Given the description of an element on the screen output the (x, y) to click on. 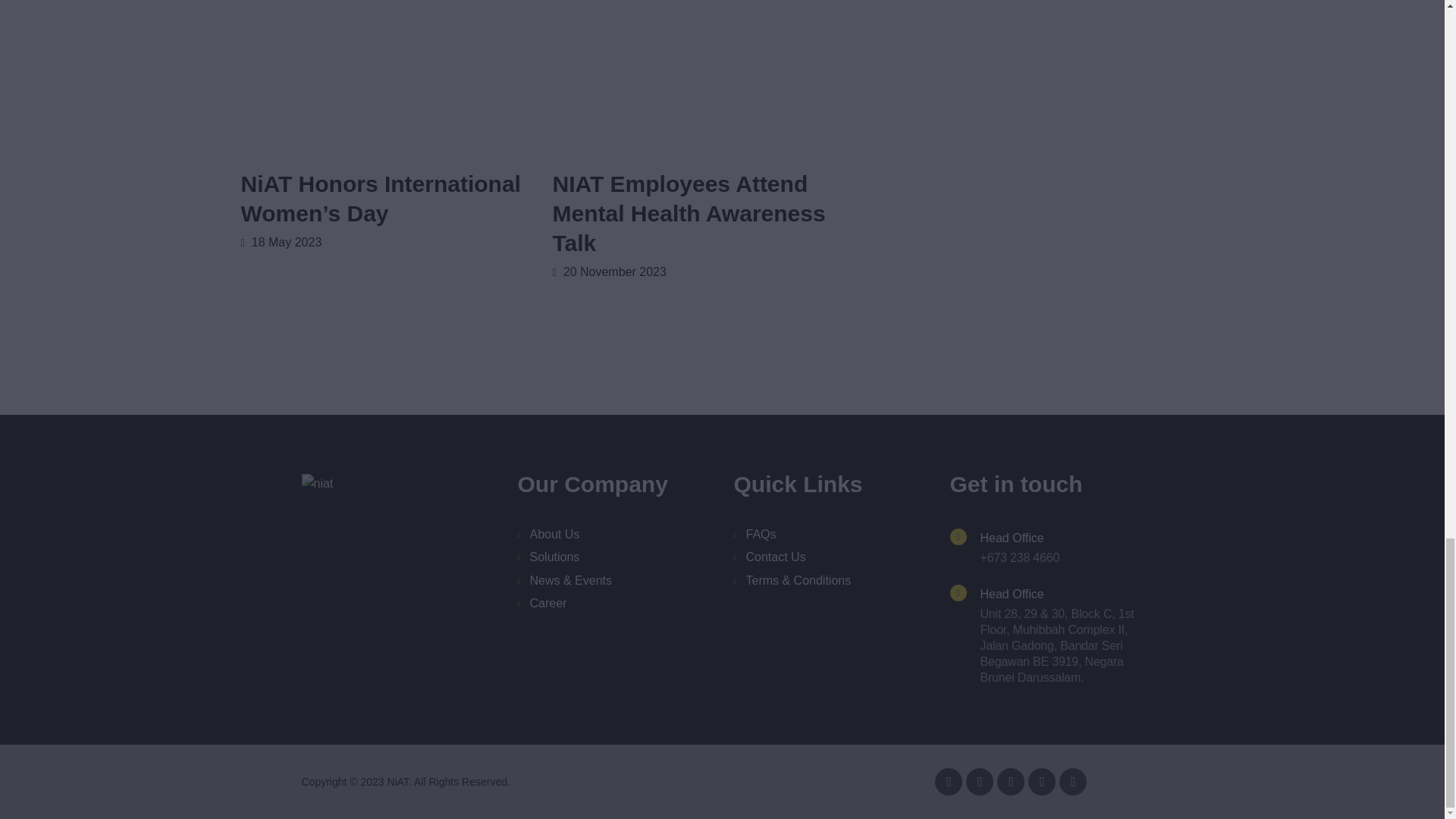
NIAT Employees Attend Mental Health Awareness Talk (691, 212)
20 November 2023 (608, 271)
18 May 2023 (281, 241)
